Given the description of an element on the screen output the (x, y) to click on. 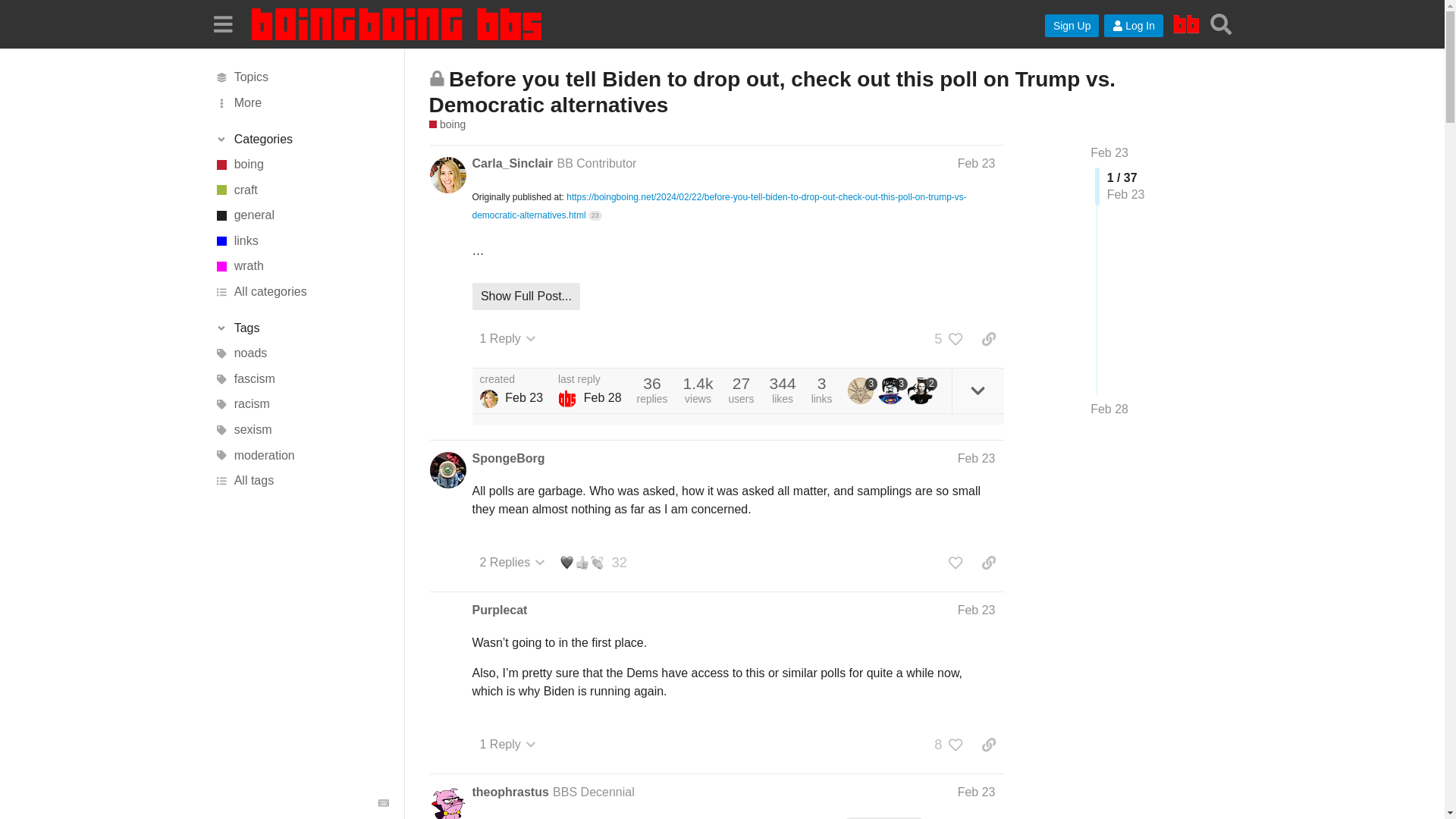
Search (1220, 23)
Log In (1133, 25)
links (301, 240)
Topics (301, 77)
Toggle section (301, 328)
craft (301, 190)
All categories (301, 291)
noads (301, 353)
moderation (301, 455)
wrath (301, 266)
Sidebar (222, 23)
racism (301, 404)
Tags (301, 328)
boing (301, 164)
